Given the description of an element on the screen output the (x, y) to click on. 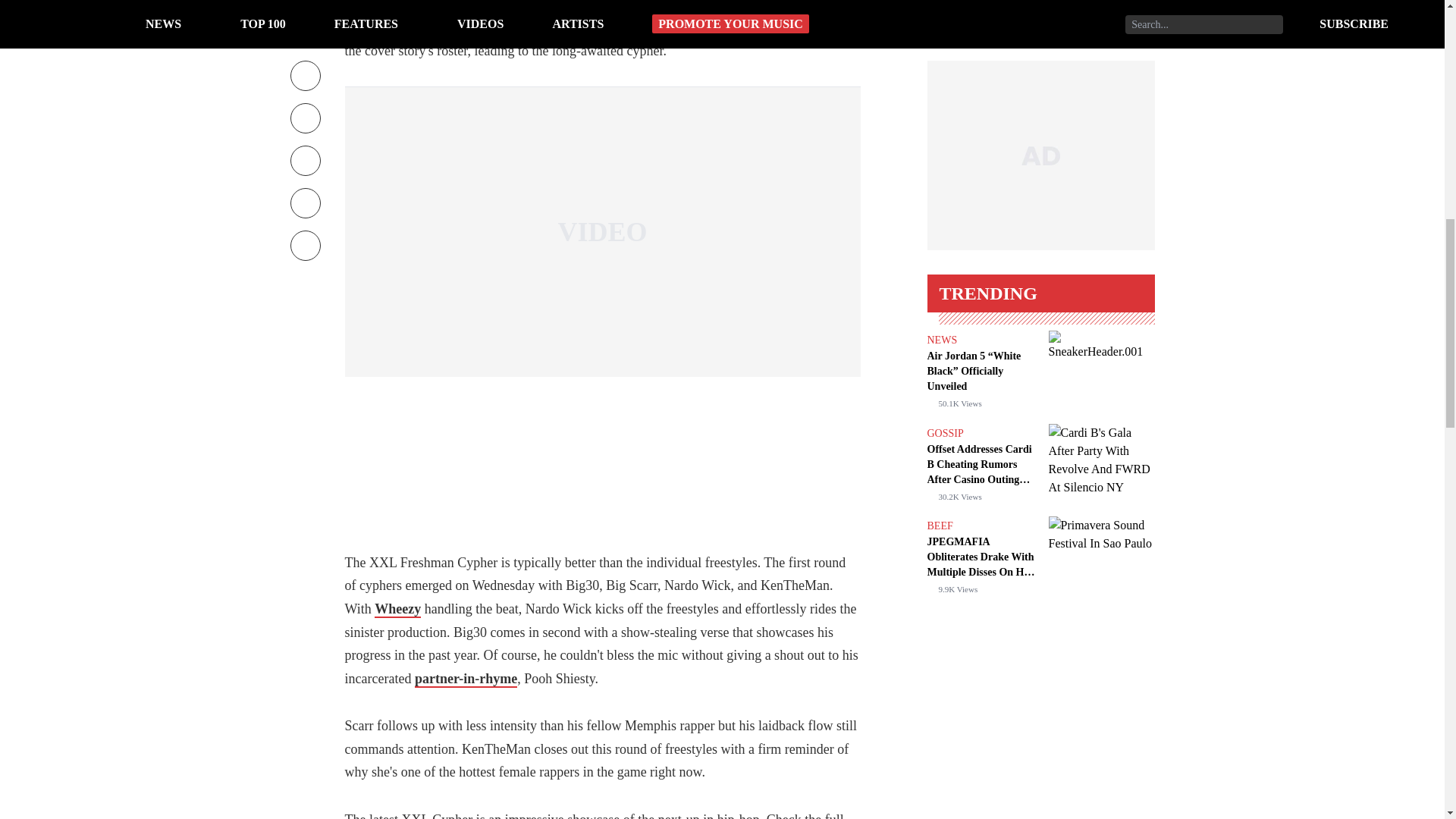
partner-in-rhyme (465, 678)
Wheezy (397, 609)
XXL Freshman (724, 27)
the backlash was minimal compared to previous years (598, 6)
